Given the description of an element on the screen output the (x, y) to click on. 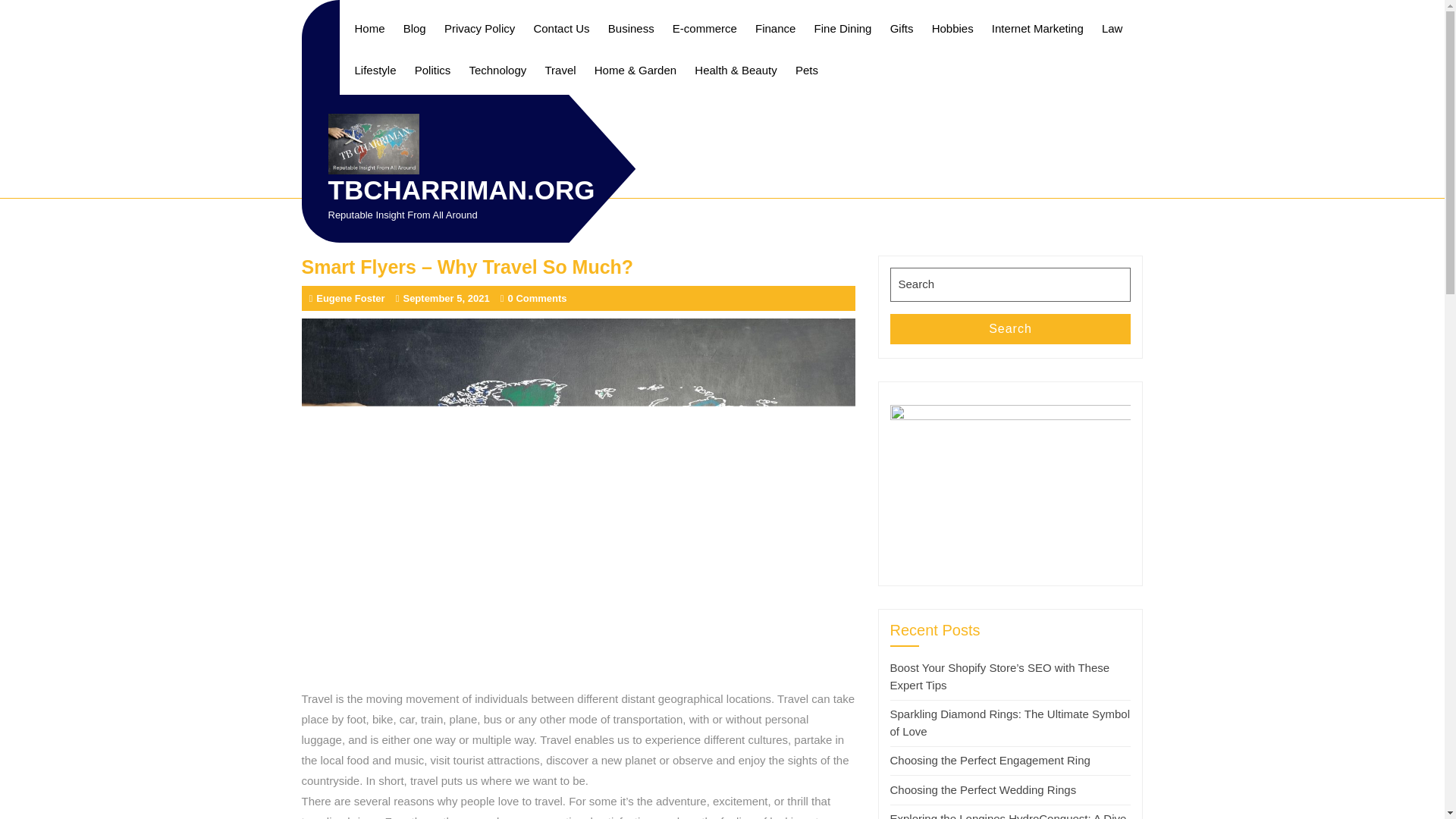
Technology (497, 69)
Hobbies (952, 28)
Choosing the Perfect Engagement Ring (989, 759)
Lifestyle (375, 69)
Contact Us (560, 28)
Search (1010, 328)
TBCHARRIMAN.ORG (460, 189)
Internet Marketing (1037, 28)
Choosing the Perfect Wedding Rings (983, 789)
Blog (414, 28)
